Given the description of an element on the screen output the (x, y) to click on. 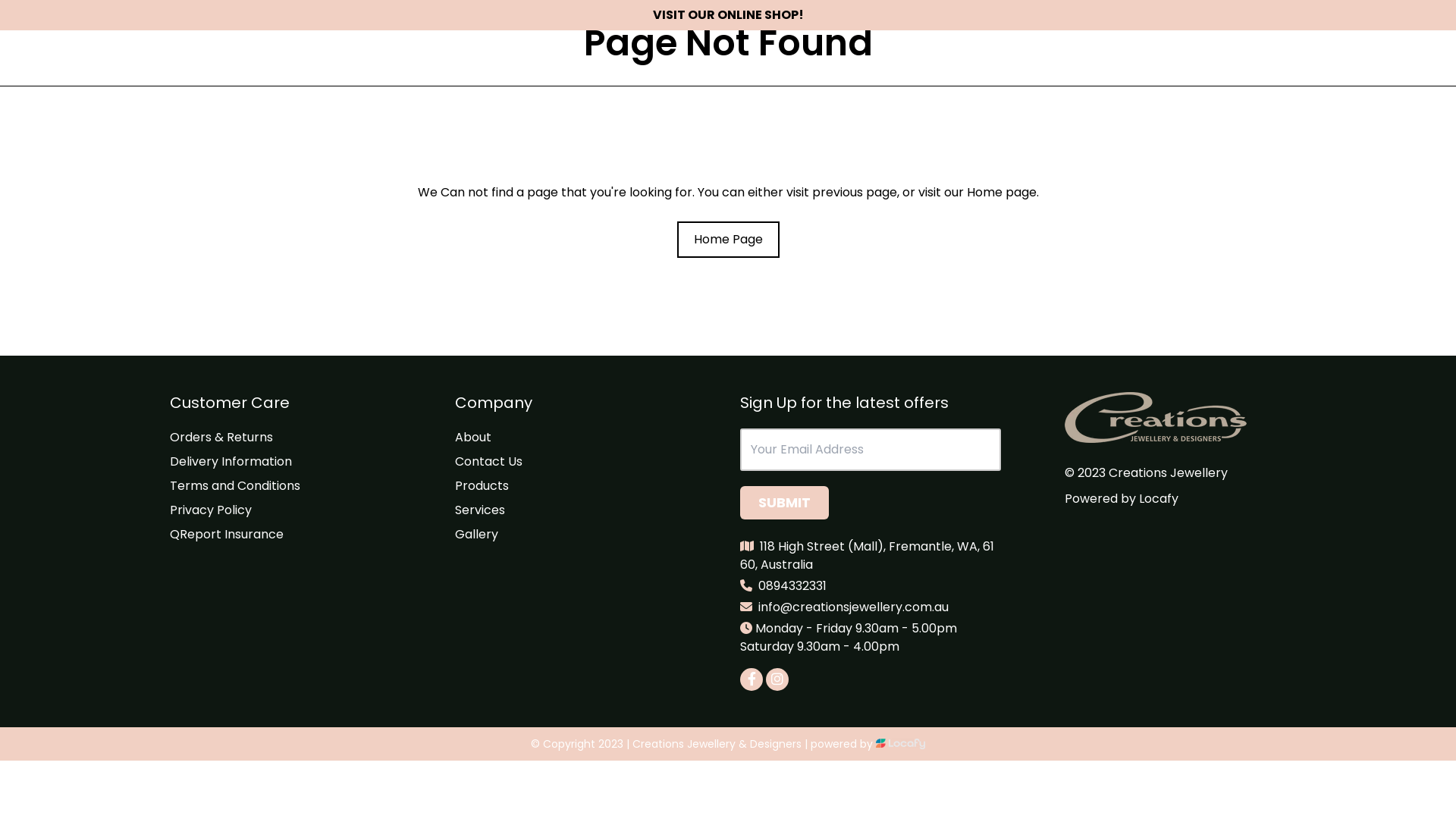
About Element type: text (473, 436)
Orders & Returns Element type: text (221, 436)
Products Element type: text (481, 485)
Gallery Element type: text (476, 533)
118 High Street (Mall), Fremantle, WA, 6160, Australia Element type: text (867, 549)
SUBMIT Element type: text (784, 502)
Terms and Conditions Element type: text (234, 485)
Services Element type: text (480, 509)
Our Instagram page Element type: hover (776, 679)
QReport Insurance Element type: text (226, 533)
Monday - Friday 9.30am - 5.00pm
Saturday 9.30am - 4.00pm Element type: text (848, 631)
Contact Us Element type: text (488, 461)
0894332331 Element type: text (792, 579)
info@creationsjewellery.com.au Element type: text (853, 600)
Delivery Information Element type: text (230, 461)
Privacy Policy Element type: text (210, 509)
Home Page Element type: text (727, 239)
VISIT OUR ONLINE SHOP! Element type: text (727, 15)
Powered by Locafy Element type: text (1121, 498)
Our Facebook page Element type: hover (751, 679)
Home Page Element type: text (727, 239)
